Given the description of an element on the screen output the (x, y) to click on. 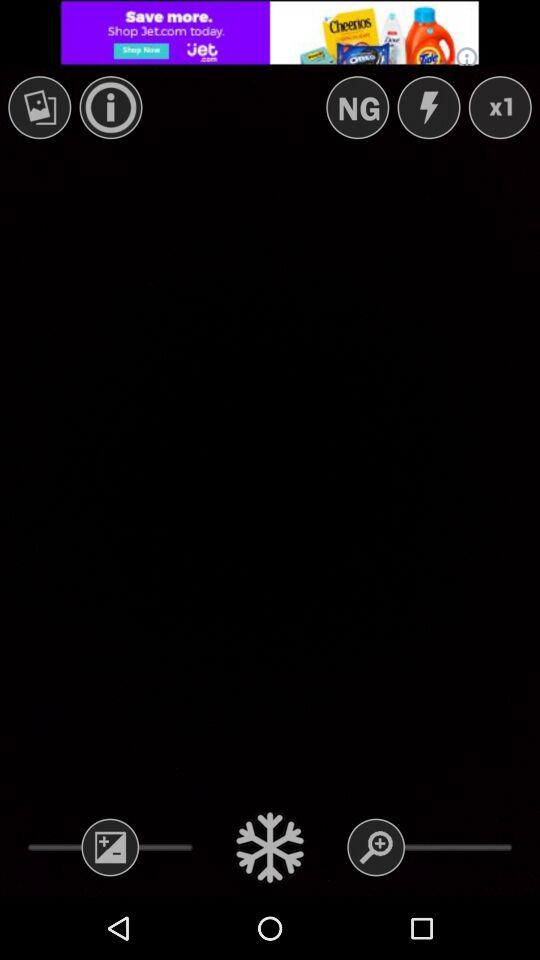
go to advertisement (270, 32)
